Given the description of an element on the screen output the (x, y) to click on. 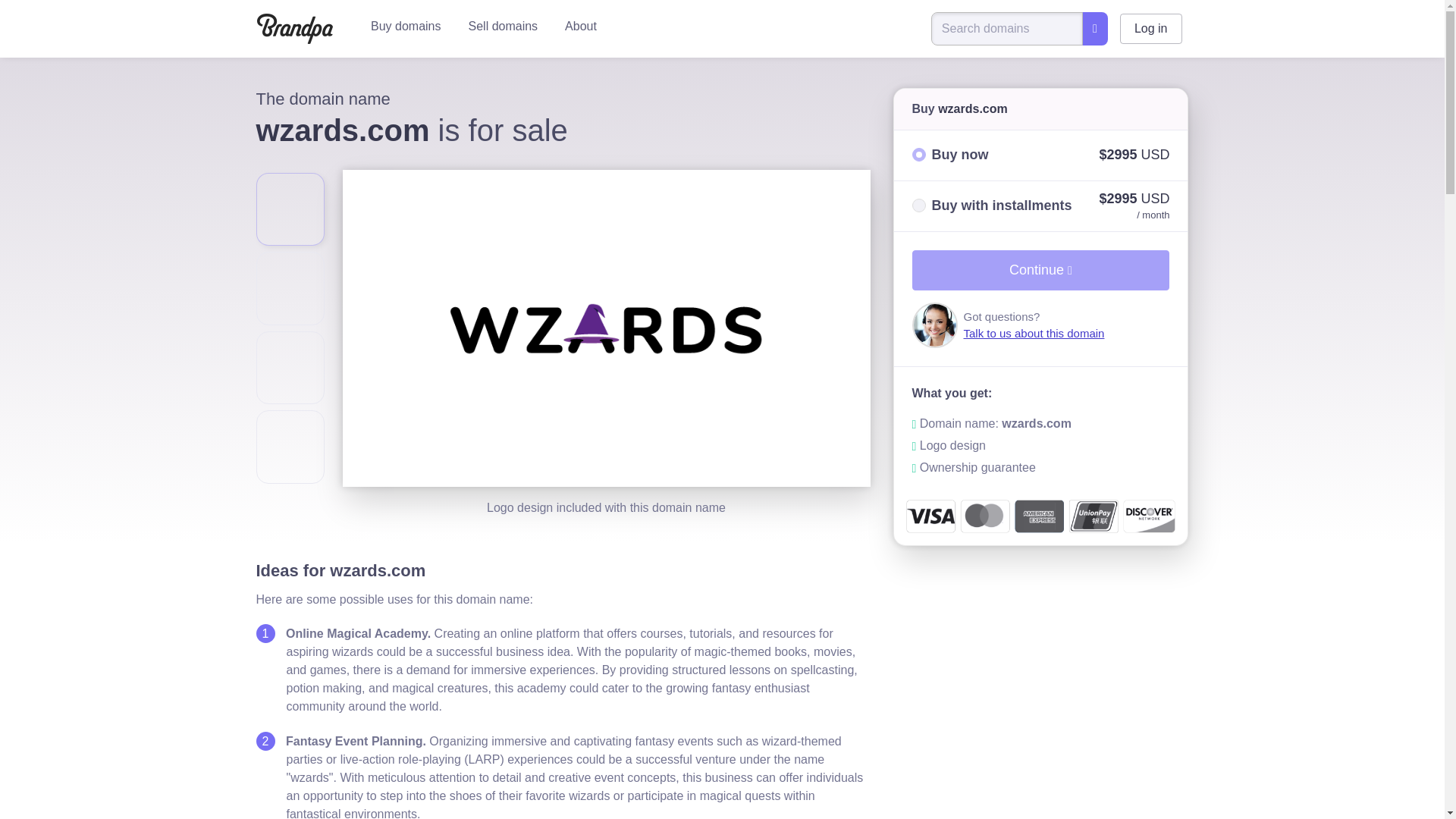
installments (917, 205)
Sell domains (502, 25)
Log in (1150, 28)
Buy domains (405, 25)
About (580, 25)
buy (917, 154)
